Given the description of an element on the screen output the (x, y) to click on. 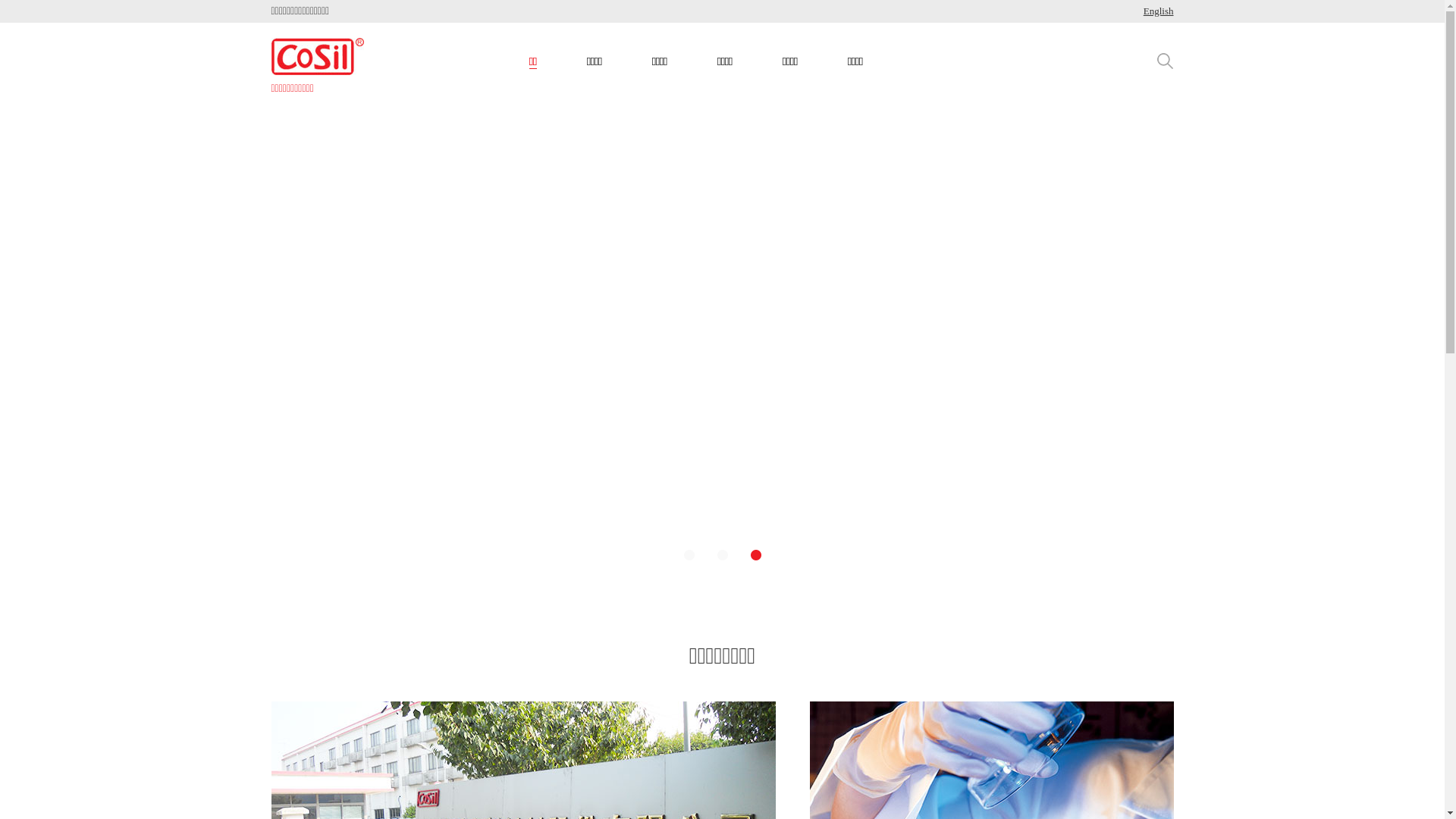
English Element type: text (1158, 11)
